Given the description of an element on the screen output the (x, y) to click on. 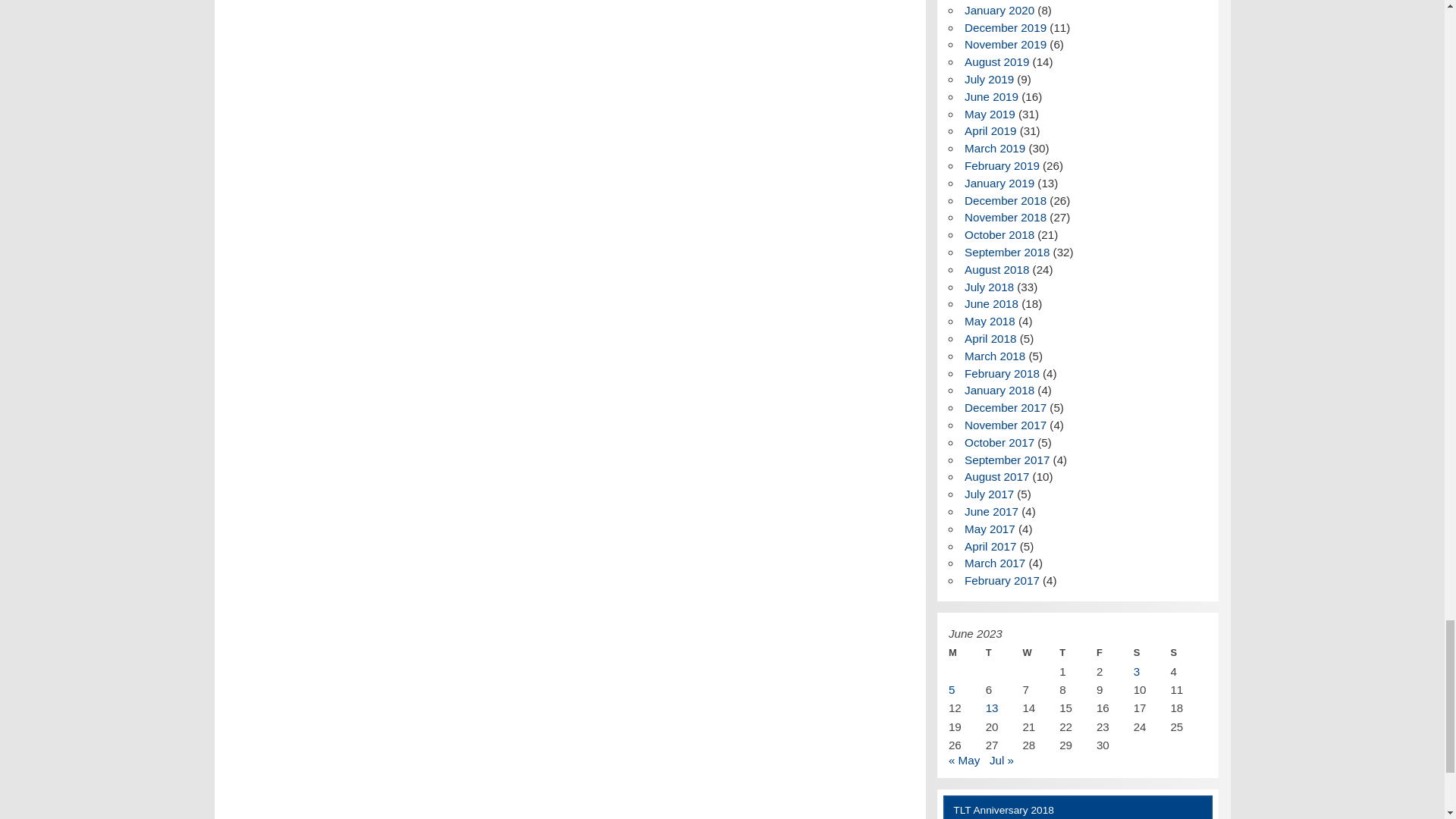
Wednesday (1040, 652)
Tuesday (1004, 652)
Friday (1115, 652)
Saturday (1152, 652)
Sunday (1188, 652)
Thursday (1077, 652)
Monday (967, 652)
